Given the description of an element on the screen output the (x, y) to click on. 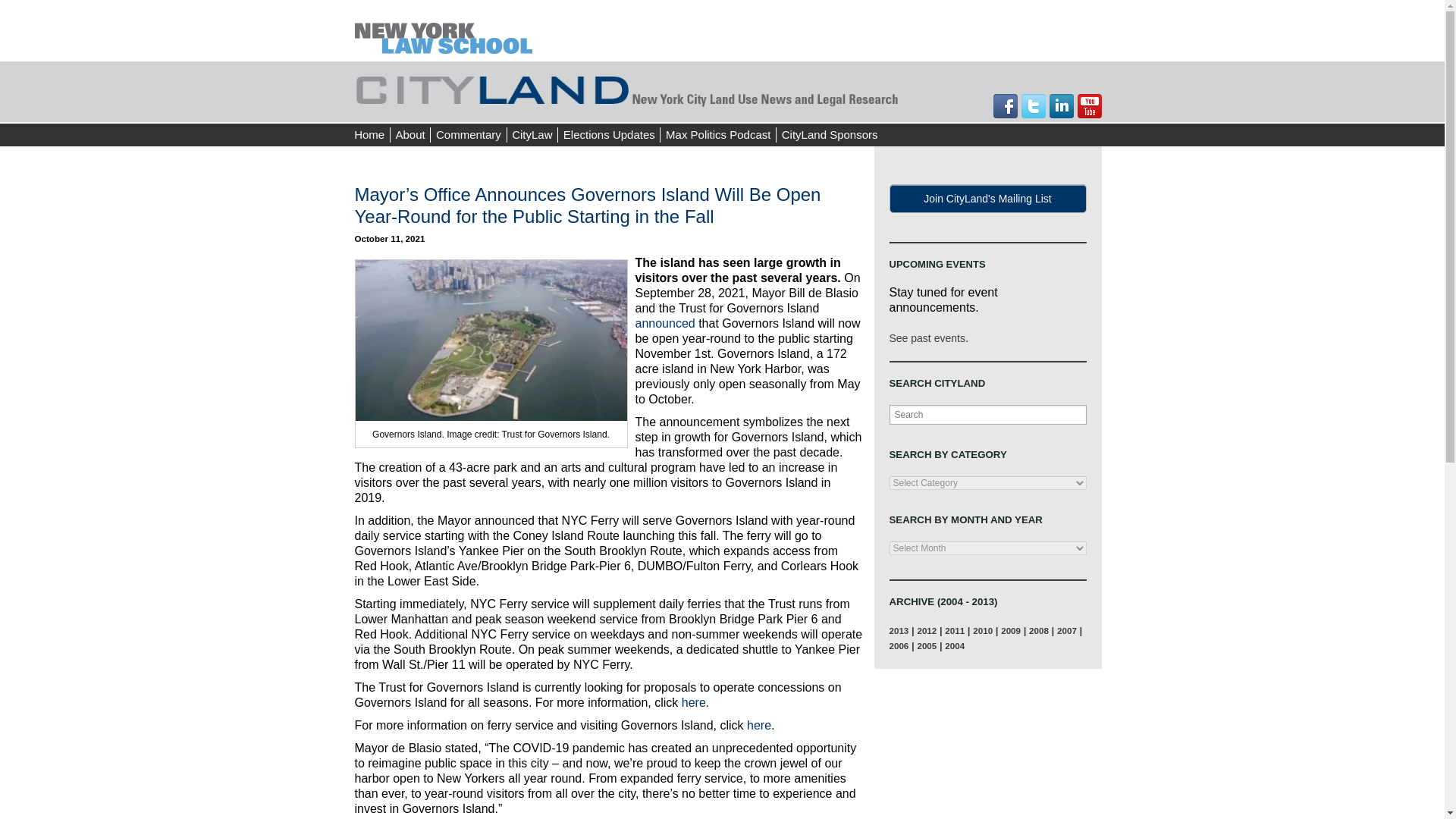
CityLand Sponsors (829, 134)
5:00 am (390, 238)
here (693, 702)
CityLand (628, 88)
CityLand (446, 29)
CityLaw (531, 134)
YouTube (1088, 105)
See past events (925, 337)
announced (664, 323)
2011 (953, 630)
Join CityLand's Mailing List (987, 198)
2013 (898, 630)
Twitter (1032, 105)
2012 (926, 630)
About (410, 134)
